Given the description of an element on the screen output the (x, y) to click on. 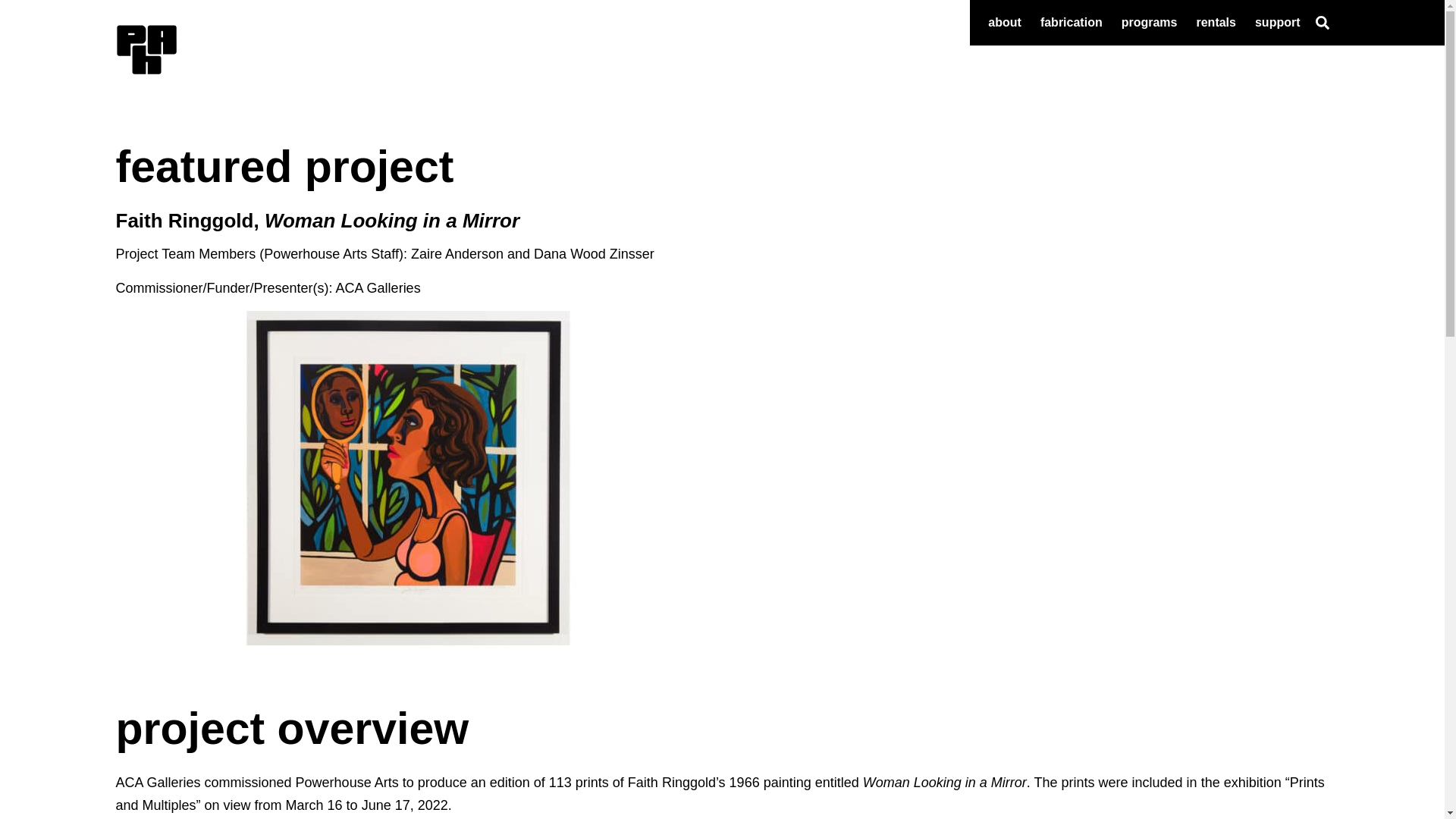
about (1009, 22)
Skip to content (15, 7)
